Given the description of an element on the screen output the (x, y) to click on. 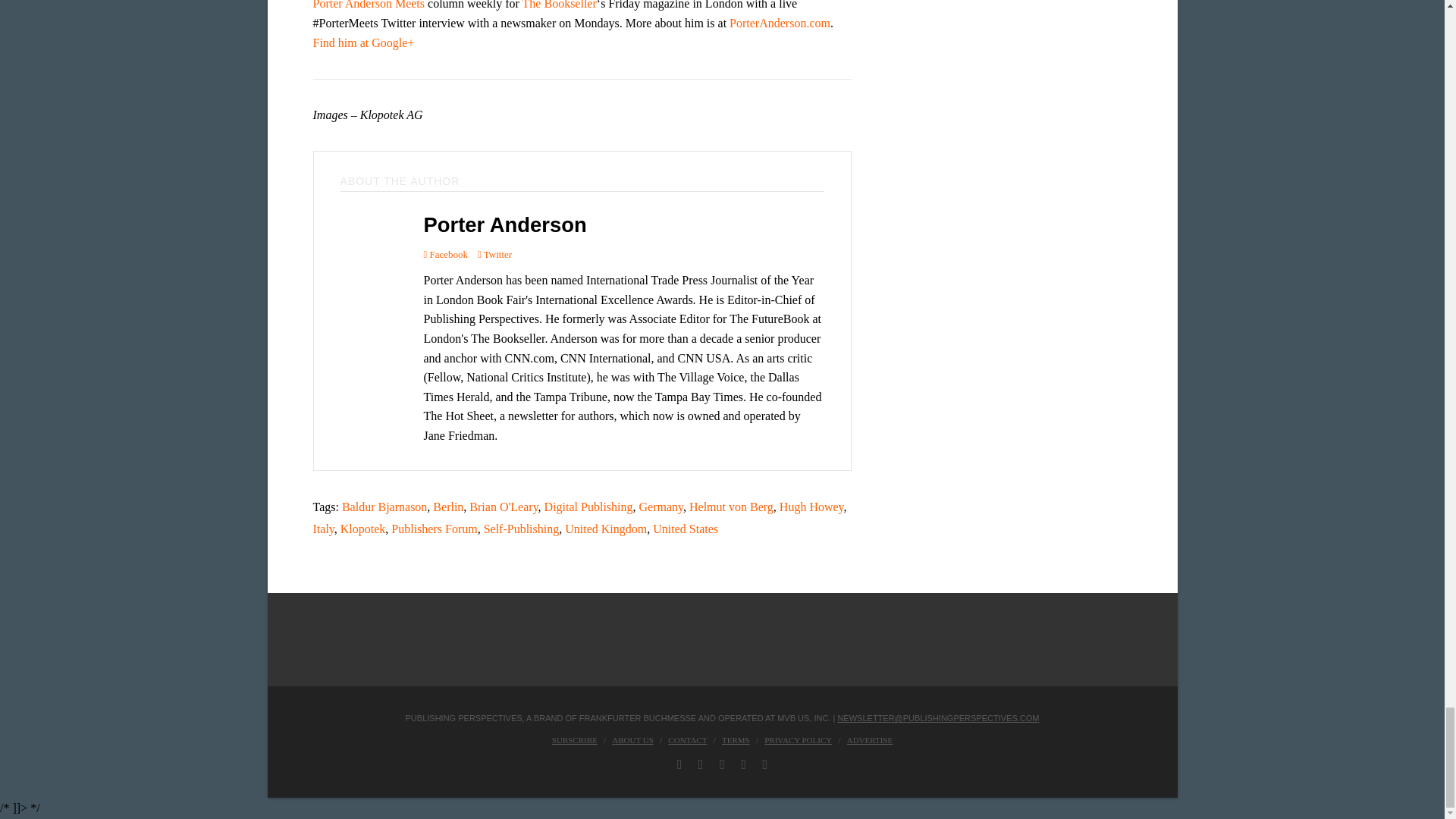
Terms and Conditions (735, 739)
Visit the Twitter Profile for Porter Anderson (494, 253)
Subscribe to Publishing Perspectives (573, 739)
Visit the Facebook Profile for Porter Anderson (445, 253)
